Given the description of an element on the screen output the (x, y) to click on. 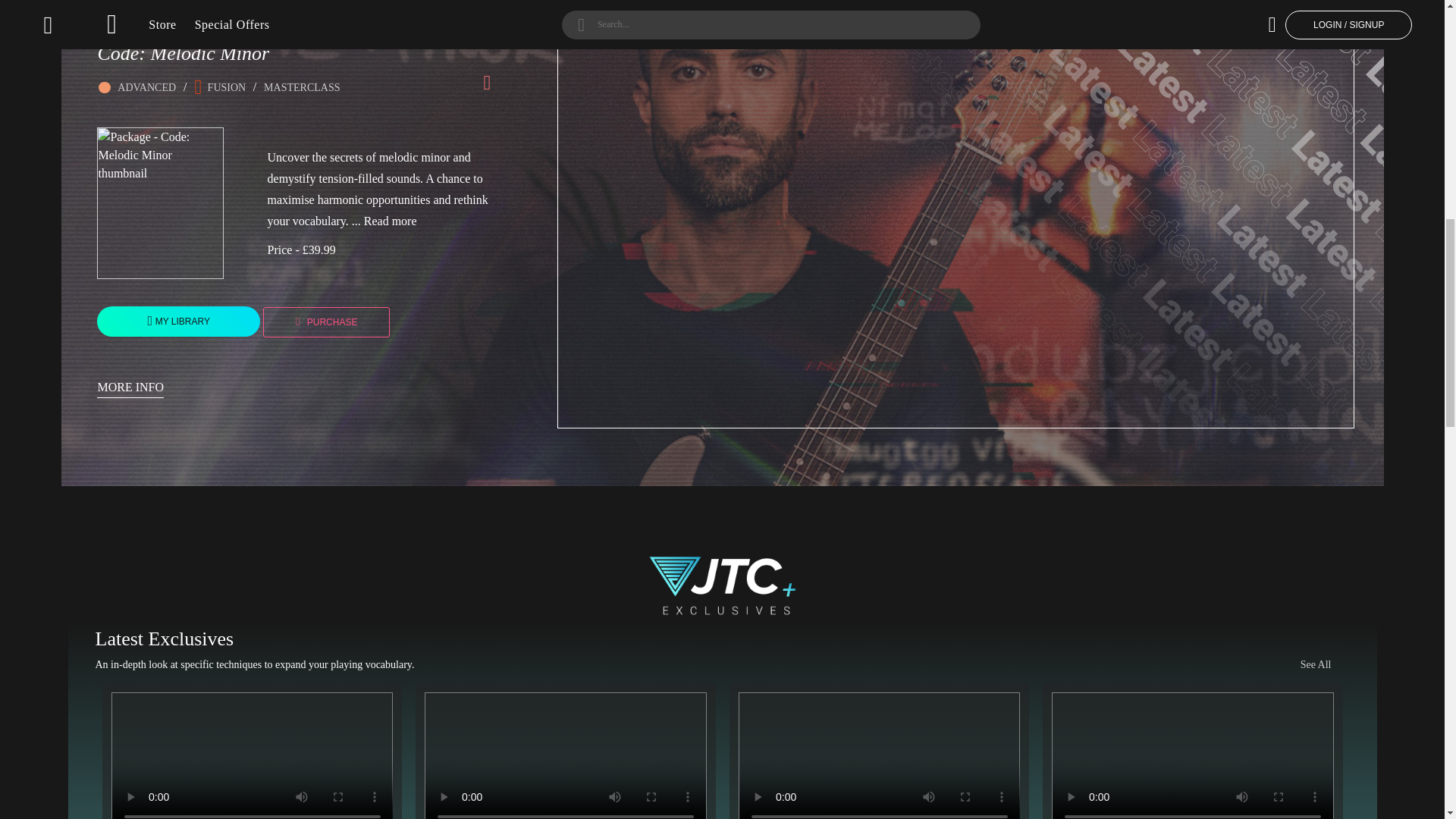
Add to Favourites (487, 84)
Add to Lib (178, 321)
